Given the description of an element on the screen output the (x, y) to click on. 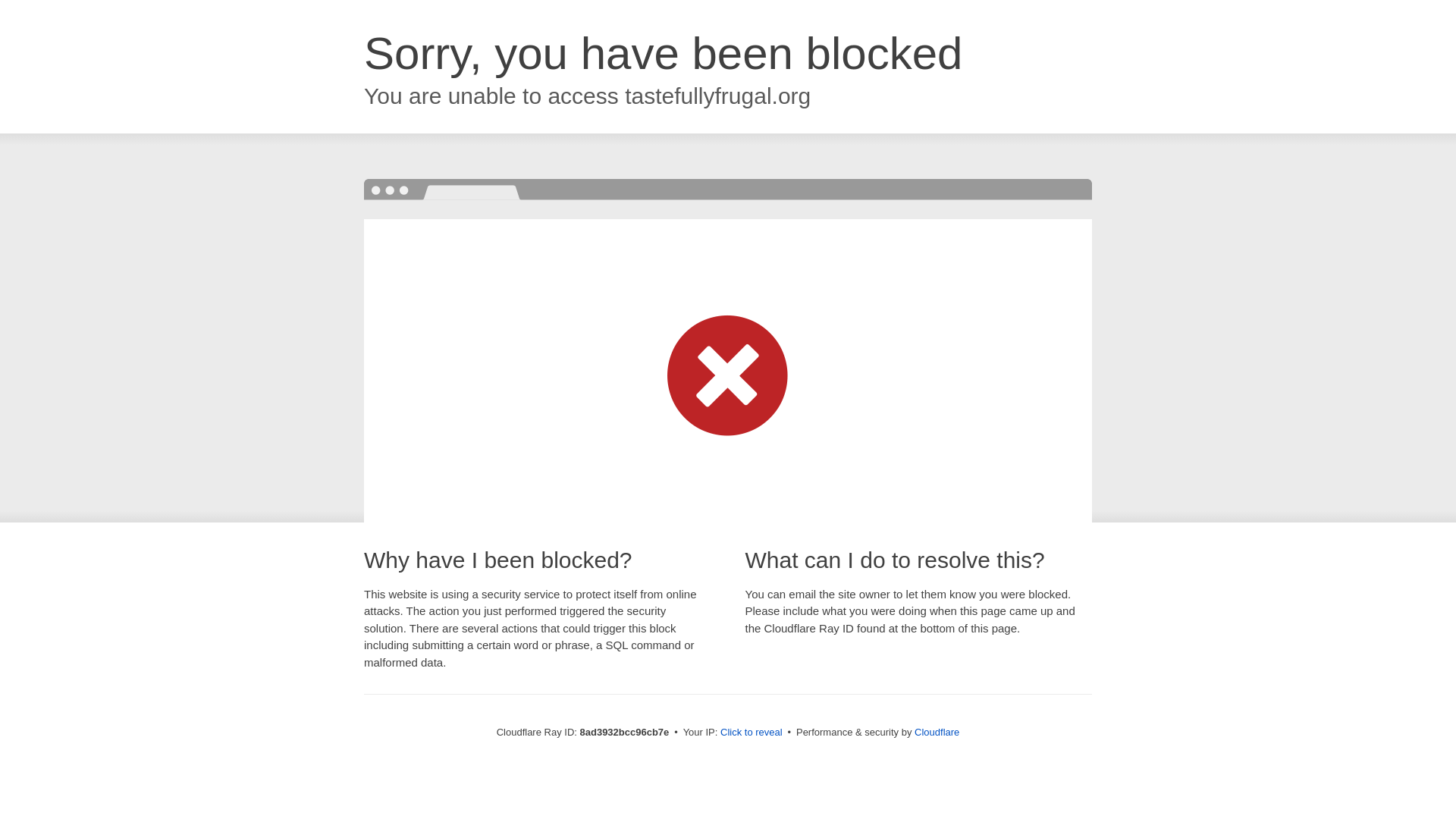
Click to reveal (751, 732)
Cloudflare (936, 731)
